Given the description of an element on the screen output the (x, y) to click on. 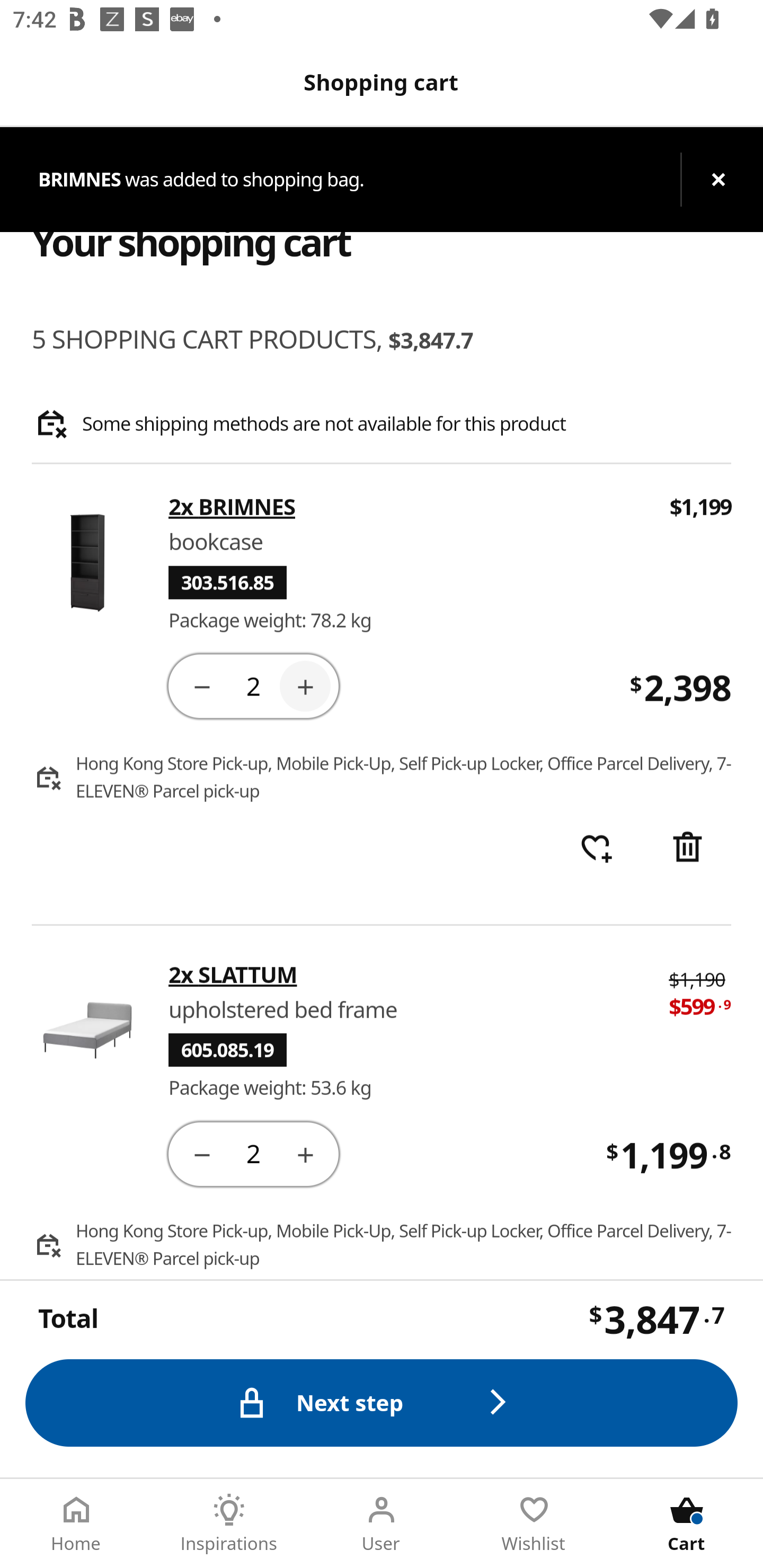
2x  BRIMNES 2x  BRIMNES (406, 507)
2 (253, 685)
 (201, 685)
 (305, 685)
  (595, 848)
 (686, 848)
2x  SLATTUM 2x  SLATTUM (405, 974)
2 (253, 1153)
 (201, 1153)
 (305, 1153)
Home
Tab 1 of 5 (76, 1522)
Inspirations
Tab 2 of 5 (228, 1522)
User
Tab 3 of 5 (381, 1522)
Wishlist
Tab 4 of 5 (533, 1522)
Cart
Tab 5 of 5 (686, 1522)
